Given the description of an element on the screen output the (x, y) to click on. 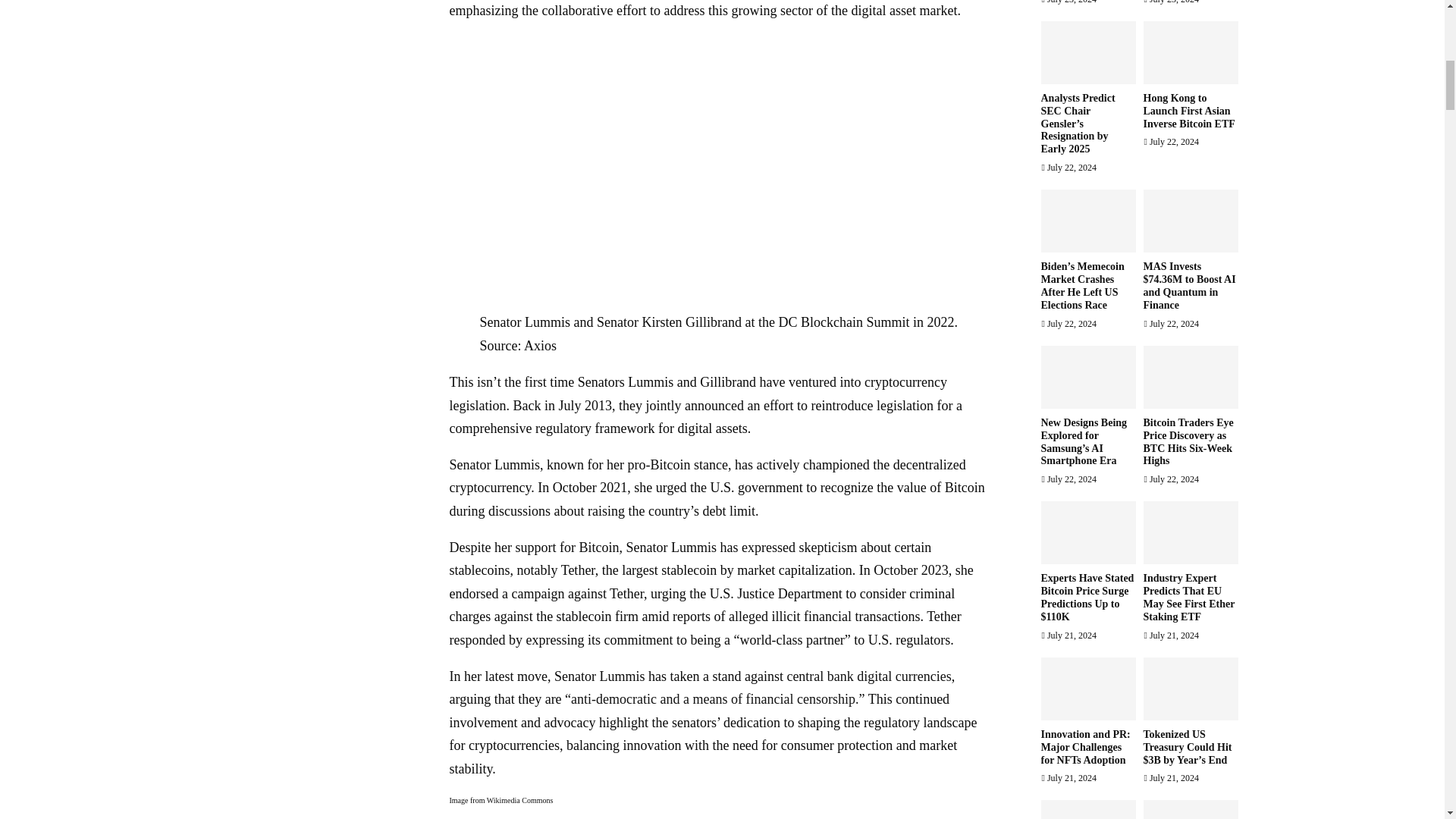
anti-democratic and a means of financial censorship. (714, 698)
central bank digital currencies (868, 676)
Wikimedia Commons (519, 800)
